Given the description of an element on the screen output the (x, y) to click on. 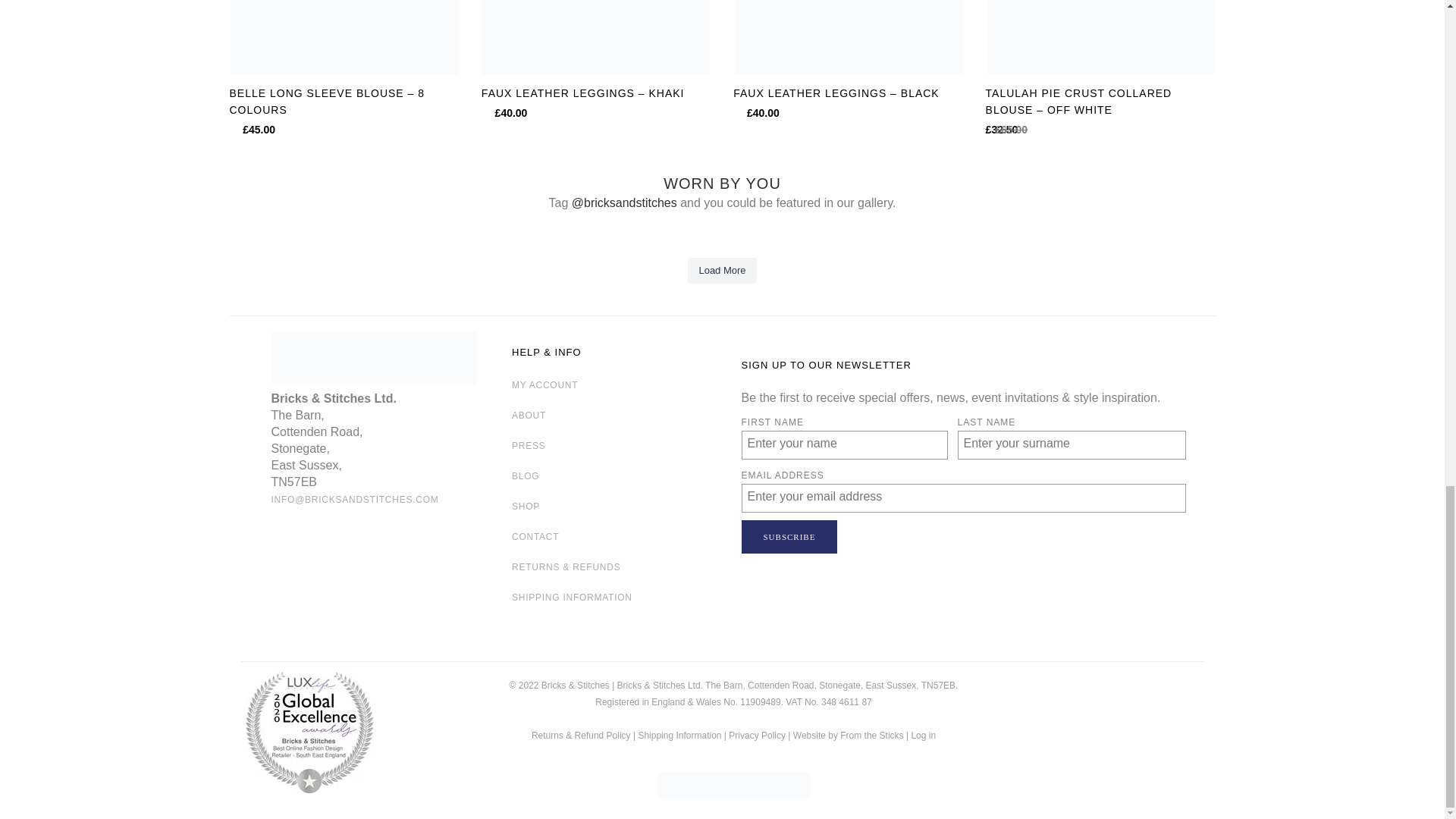
Subscribe (789, 536)
